Given the description of an element on the screen output the (x, y) to click on. 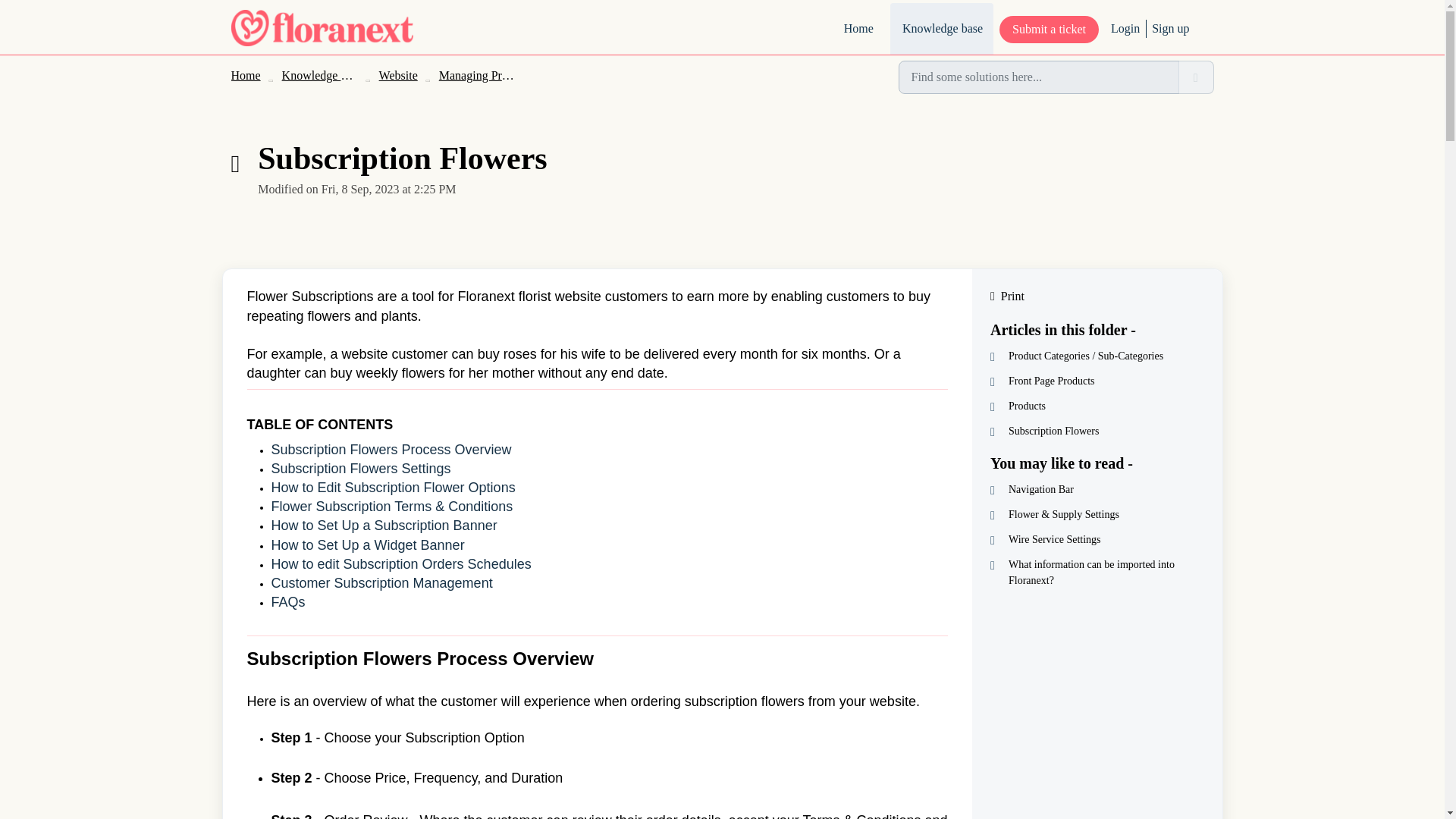
Submit a ticket (1048, 29)
Home (245, 74)
FAQs (287, 601)
How to edit Subscription Orders Schedules (400, 563)
How to Set Up a Subscription Banner (383, 525)
How to Edit Subscription Flower Options (392, 487)
Subscription Flowers Process Overview (391, 449)
Website (397, 74)
Knowledge base (322, 74)
Subscription Flowers Settings (360, 468)
Knowledge base (940, 28)
How to Set Up a Widget Banner (367, 544)
Managing Products (486, 74)
Home (857, 28)
Customer Subscription Management (381, 582)
